Given the description of an element on the screen output the (x, y) to click on. 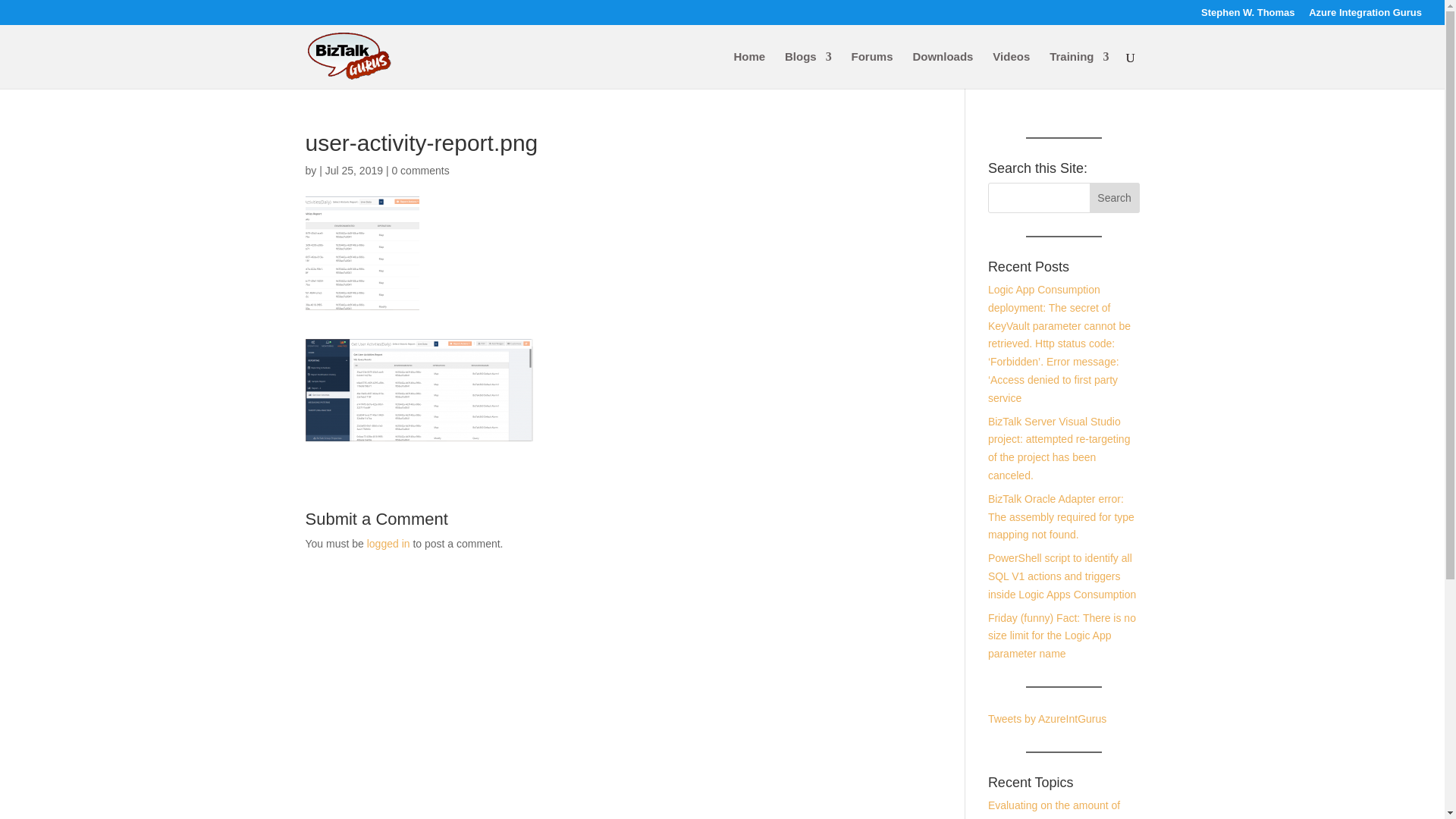
Training (1078, 69)
0 comments (419, 170)
Videos (1010, 69)
logged in (388, 543)
Tweets by AzureIntGurus (1047, 718)
Azure Integration Gurus (1365, 16)
Stephen W. Thomas (1248, 16)
Search (1114, 197)
Blogs (807, 69)
Search (1114, 197)
Home (749, 69)
Forums (872, 69)
